Given the description of an element on the screen output the (x, y) to click on. 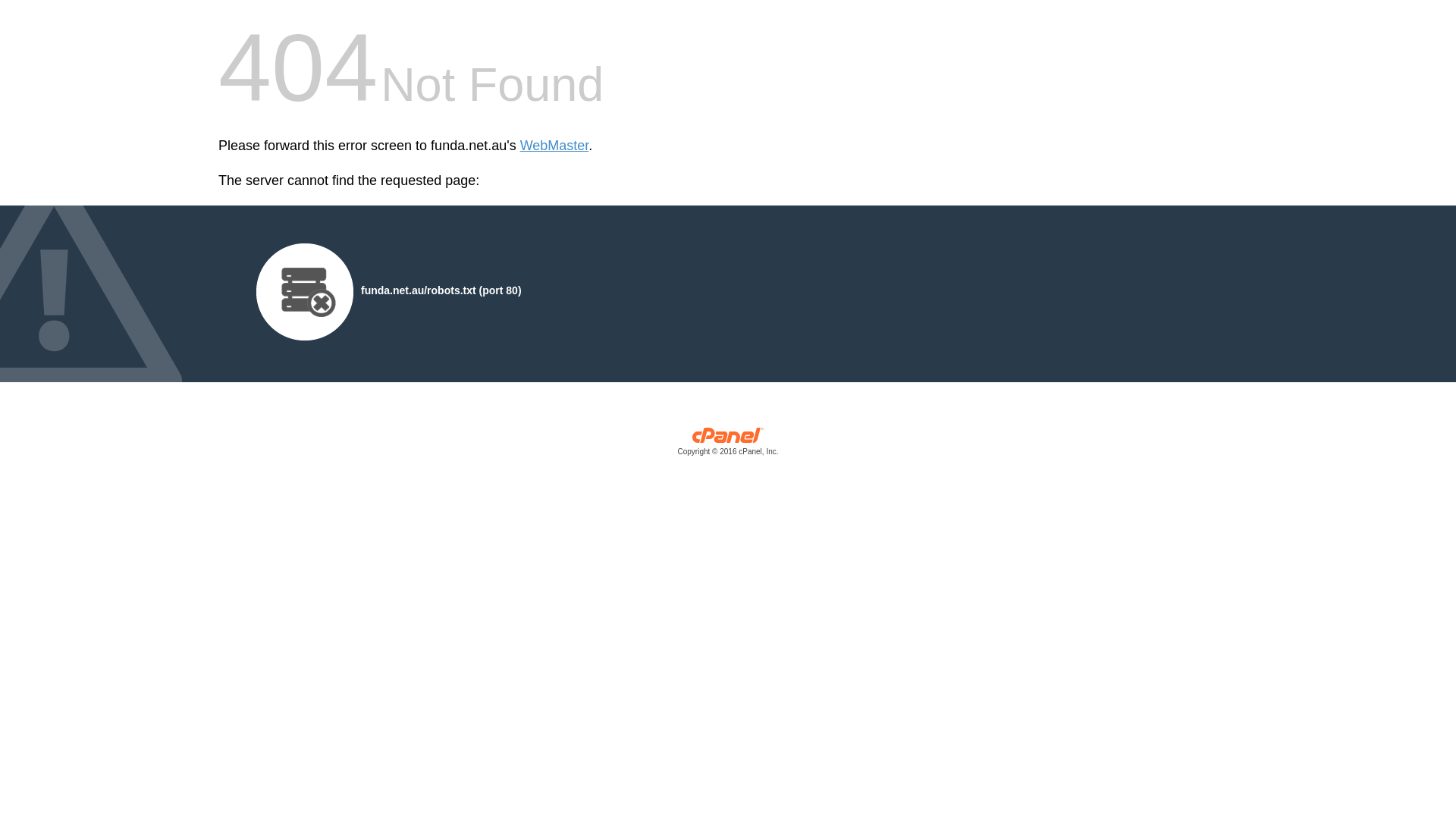
WebMaster Element type: text (554, 145)
